Given the description of an element on the screen output the (x, y) to click on. 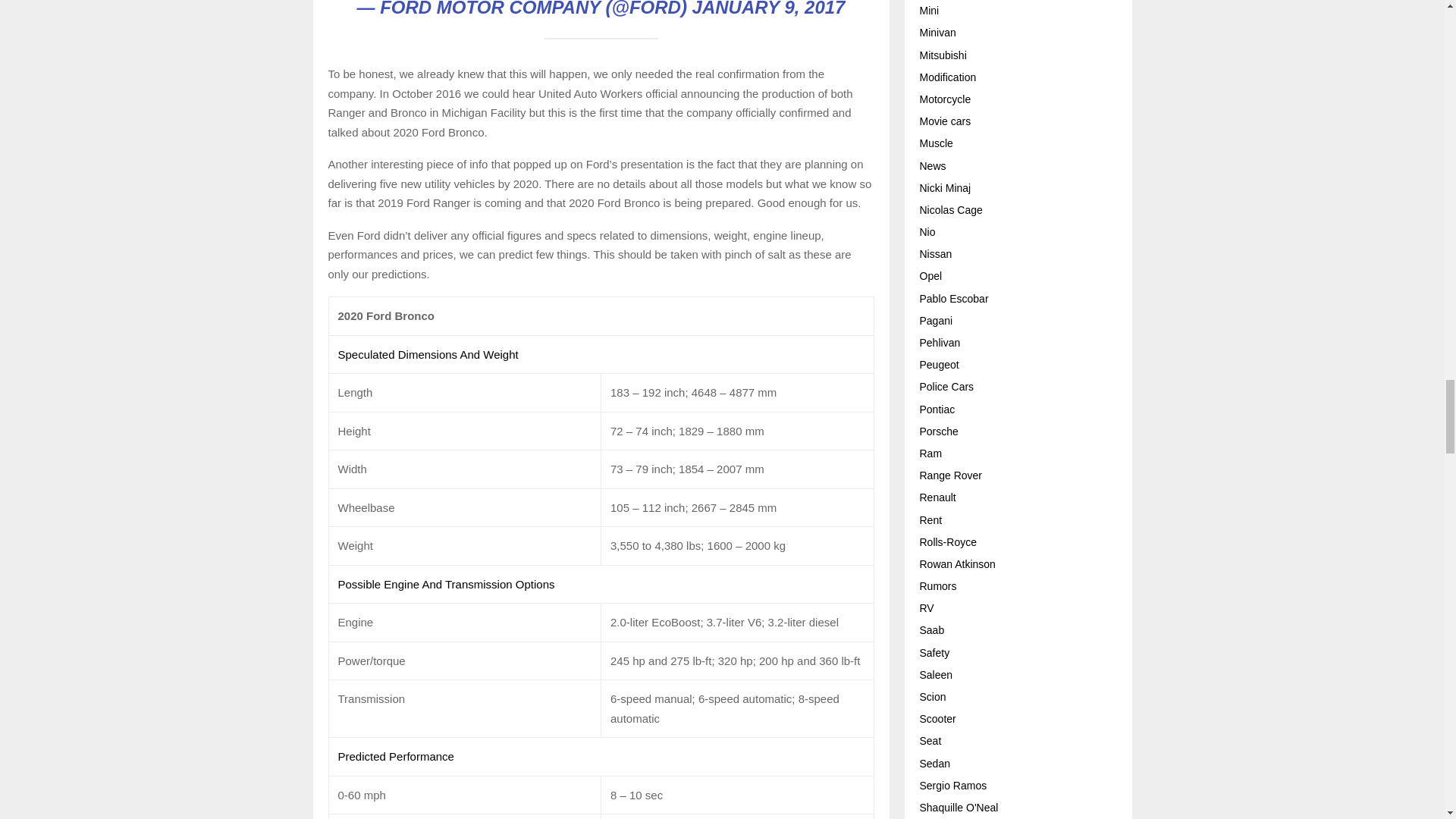
JANUARY 9, 2017 (769, 8)
